Given the description of an element on the screen output the (x, y) to click on. 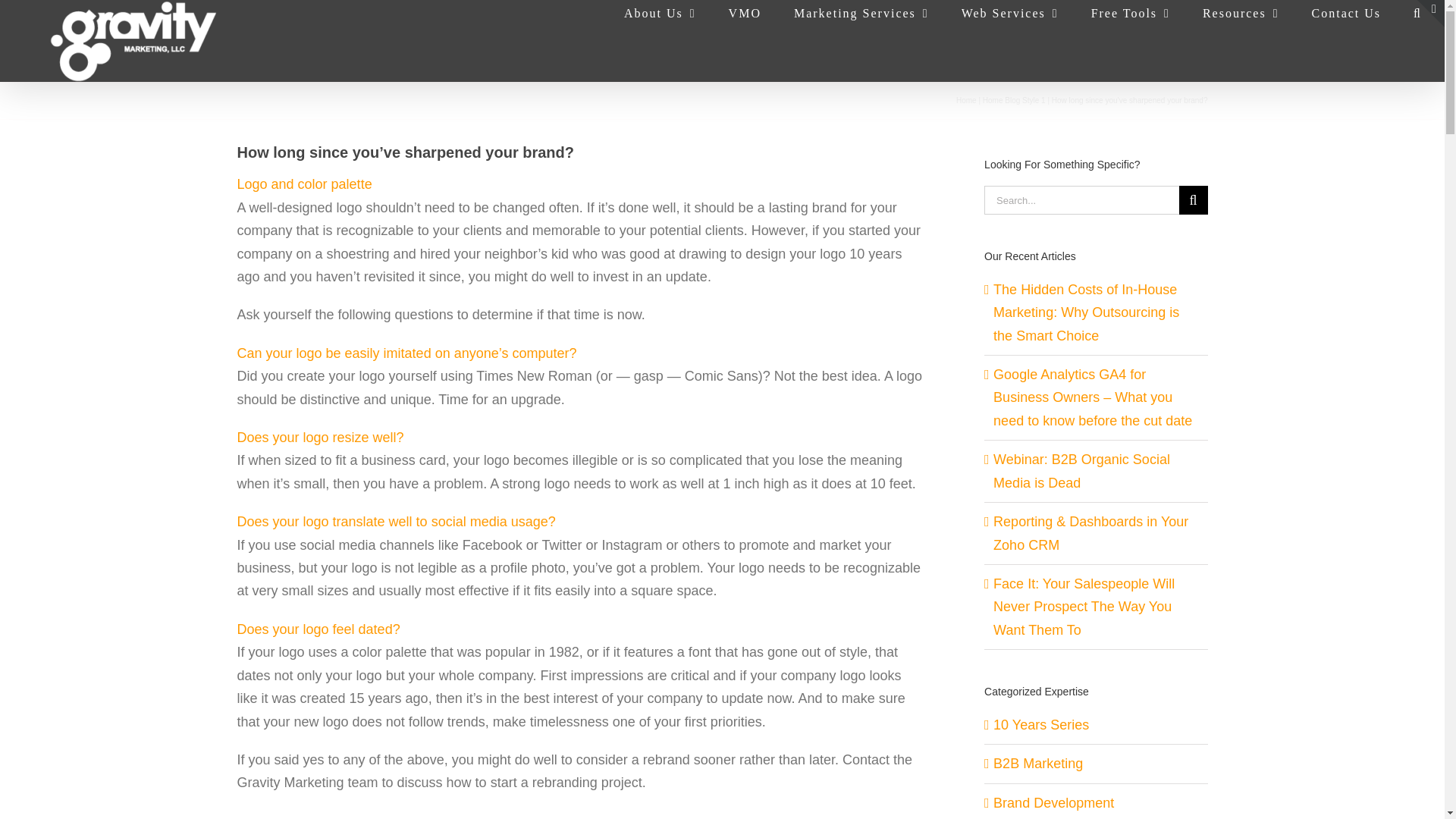
Web Services (1009, 11)
Marketing Services (860, 11)
About Us (659, 11)
VMO (745, 11)
Resources (1240, 11)
Free Tools (1130, 11)
